Given the description of an element on the screen output the (x, y) to click on. 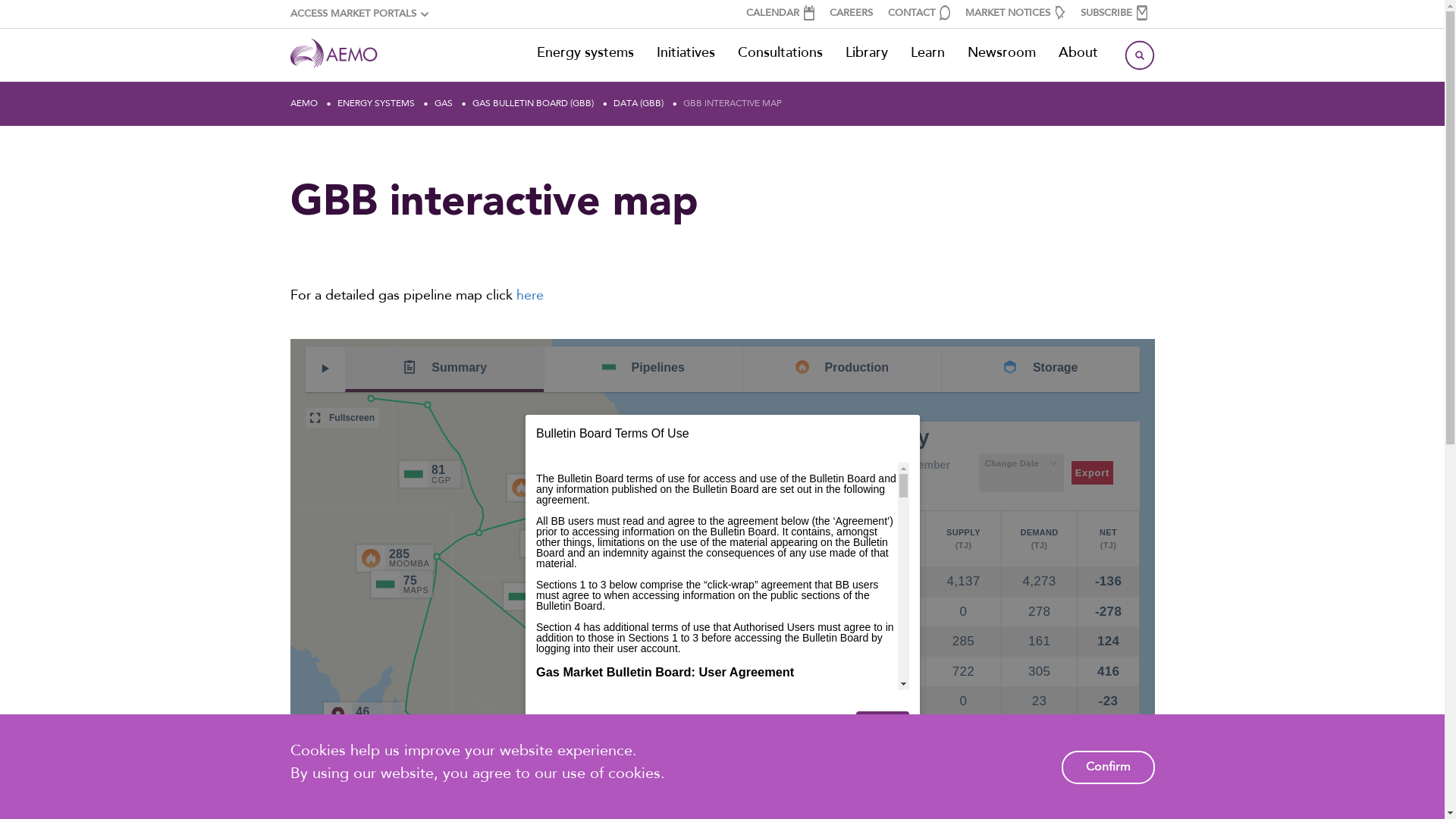
MARKET NOTICES Element type: text (1014, 13)
CAREERS Element type: text (851, 13)
Library Element type: text (866, 53)
AEMO Element type: text (302, 102)
Newsroom Element type: text (1000, 53)
CALENDAR Element type: text (780, 13)
Learn Element type: text (927, 53)
SUBSCRIBE Element type: text (1113, 13)
Energy systems Element type: text (584, 53)
CONTACT Element type: text (918, 13)
here Element type: text (528, 295)
Consultations Element type: text (780, 53)
GAS Element type: text (443, 102)
GBB INTERACTIVE MAP Element type: text (732, 102)
GAS BULLETIN BOARD (GBB) Element type: text (532, 102)
ENERGY SYSTEMS Element type: text (375, 102)
DATA (GBB) Element type: text (638, 102)
About Element type: text (1077, 53)
ACCESS MARKET PORTALS Element type: text (358, 14)
Confirm Element type: text (1107, 767)
Initiatives Element type: text (684, 53)
